Given the description of an element on the screen output the (x, y) to click on. 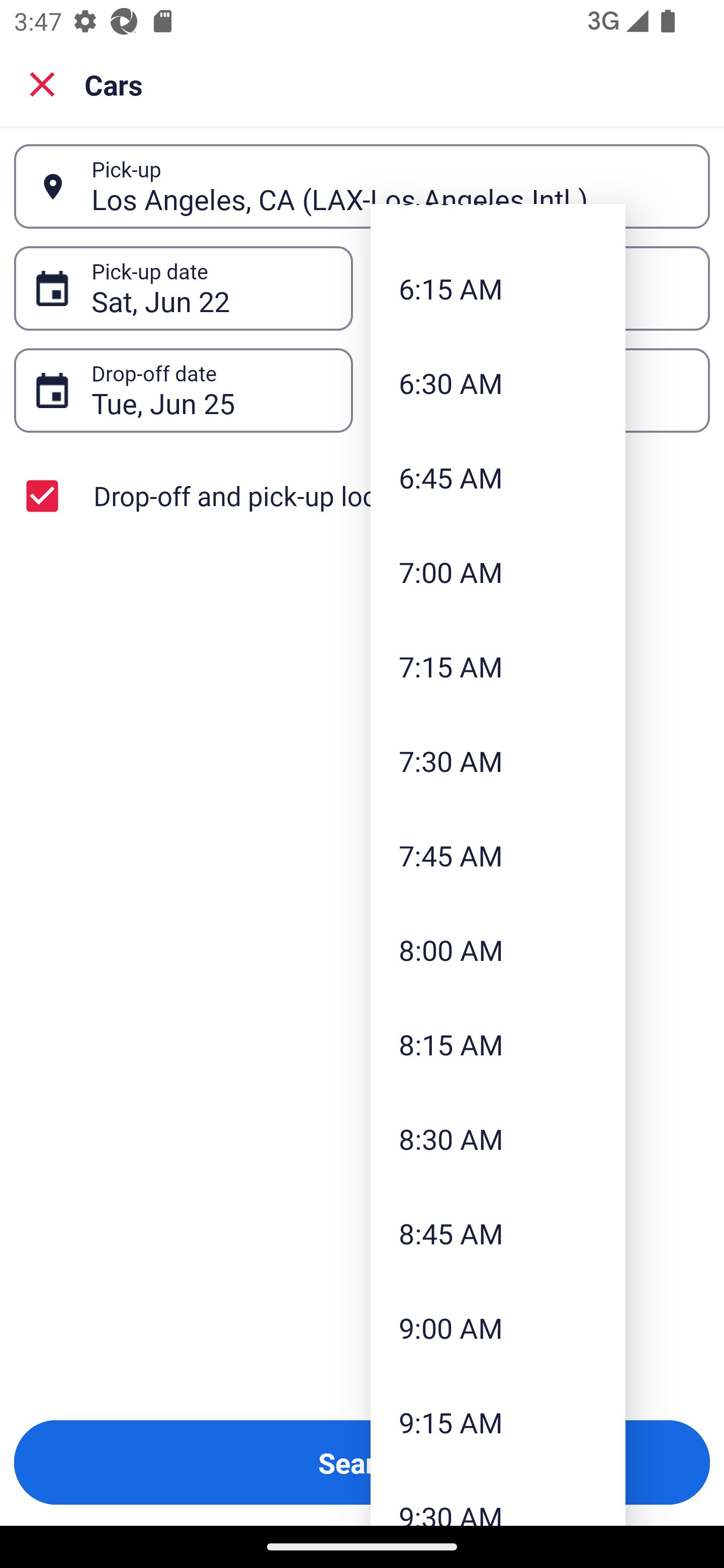
6:15 AM (497, 288)
6:30 AM (497, 382)
6:45 AM (497, 477)
7:00 AM (497, 572)
7:15 AM (497, 666)
7:30 AM (497, 760)
7:45 AM (497, 855)
8:00 AM (497, 950)
8:15 AM (497, 1044)
8:30 AM (497, 1138)
8:45 AM (497, 1233)
9:00 AM (497, 1328)
9:15 AM (497, 1422)
9:30 AM (497, 1497)
